Given the description of an element on the screen output the (x, y) to click on. 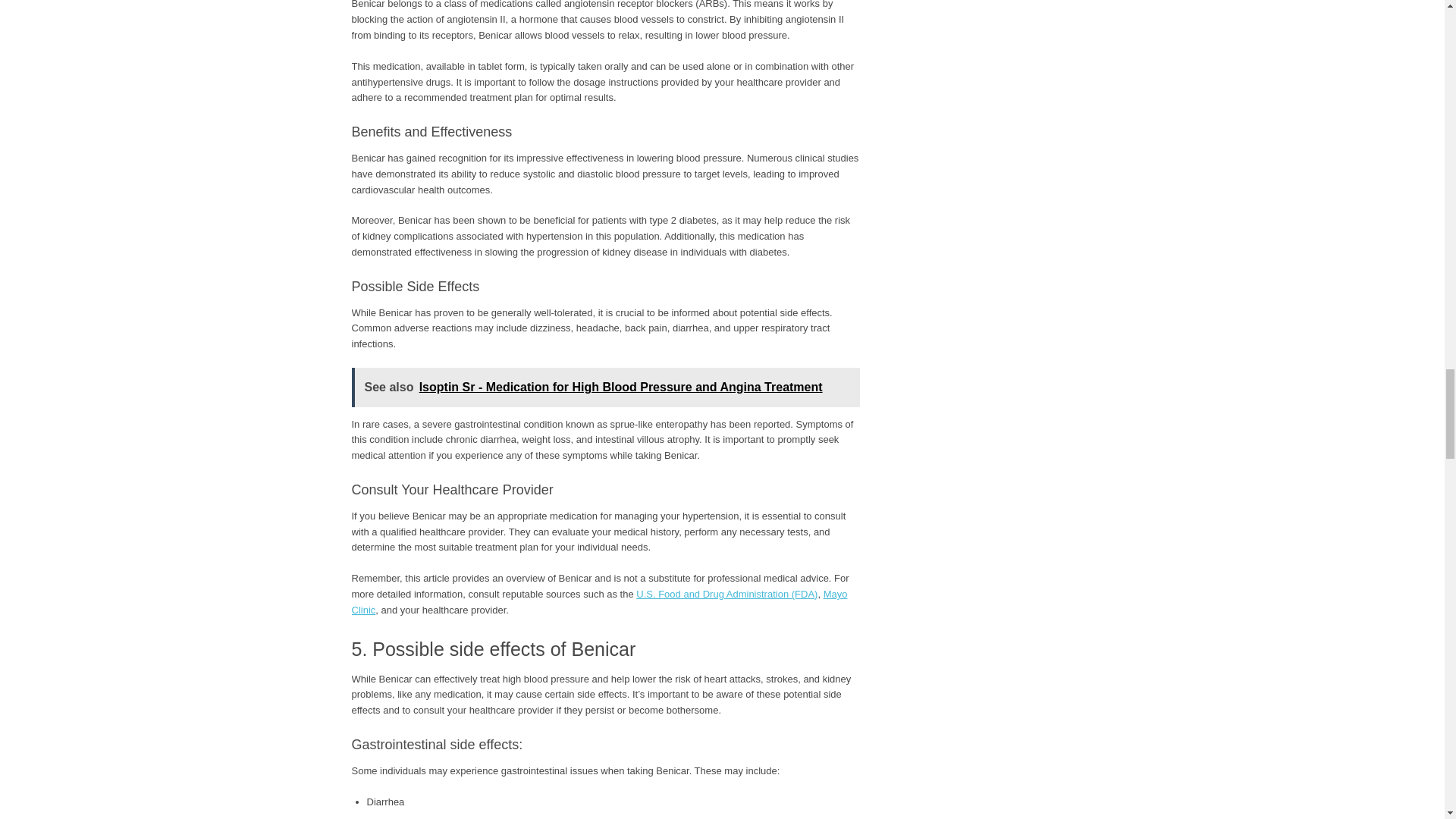
Mayo Clinic (599, 601)
